Given the description of an element on the screen output the (x, y) to click on. 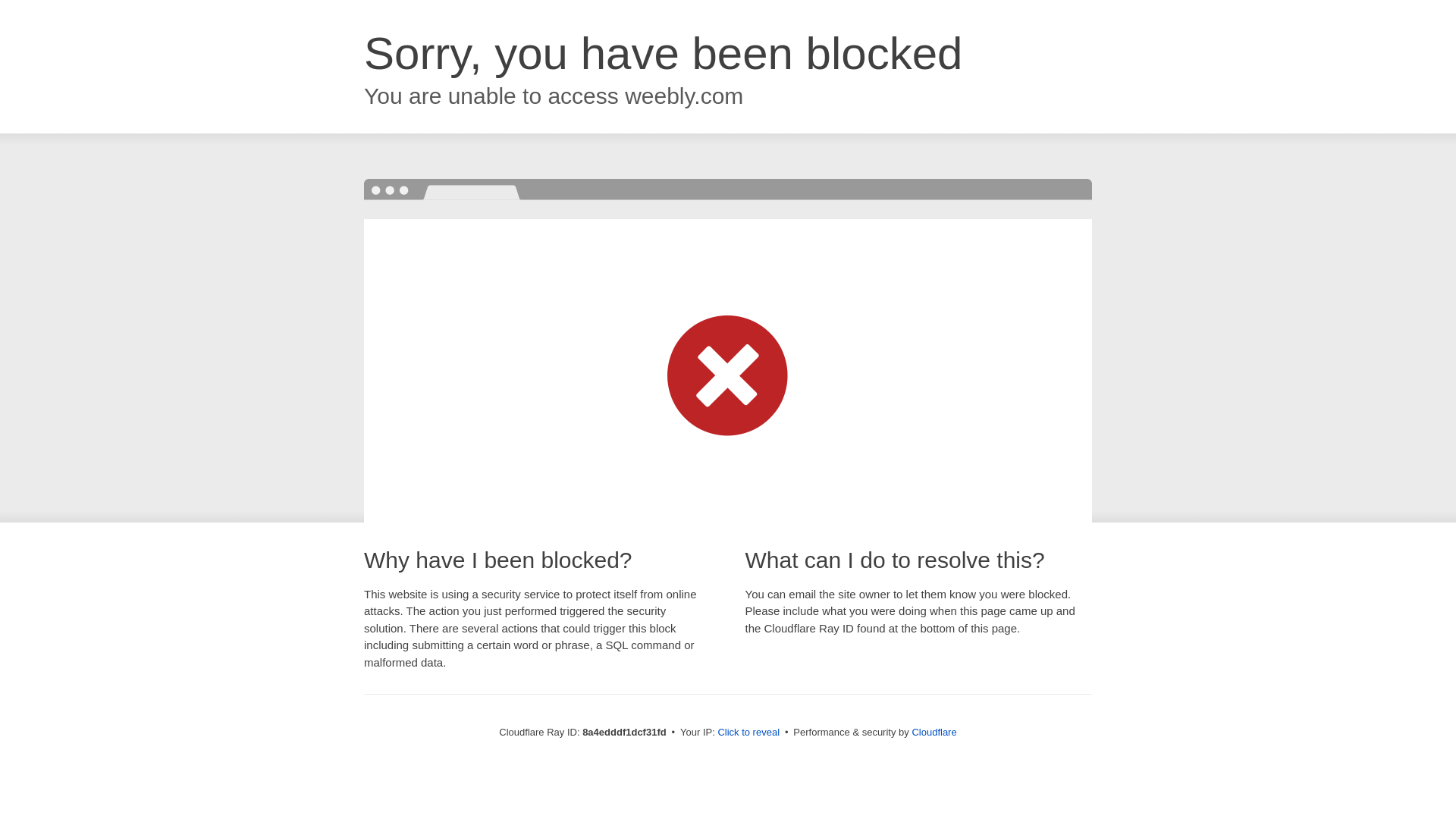
Click to reveal (747, 732)
Cloudflare (933, 731)
